Given the description of an element on the screen output the (x, y) to click on. 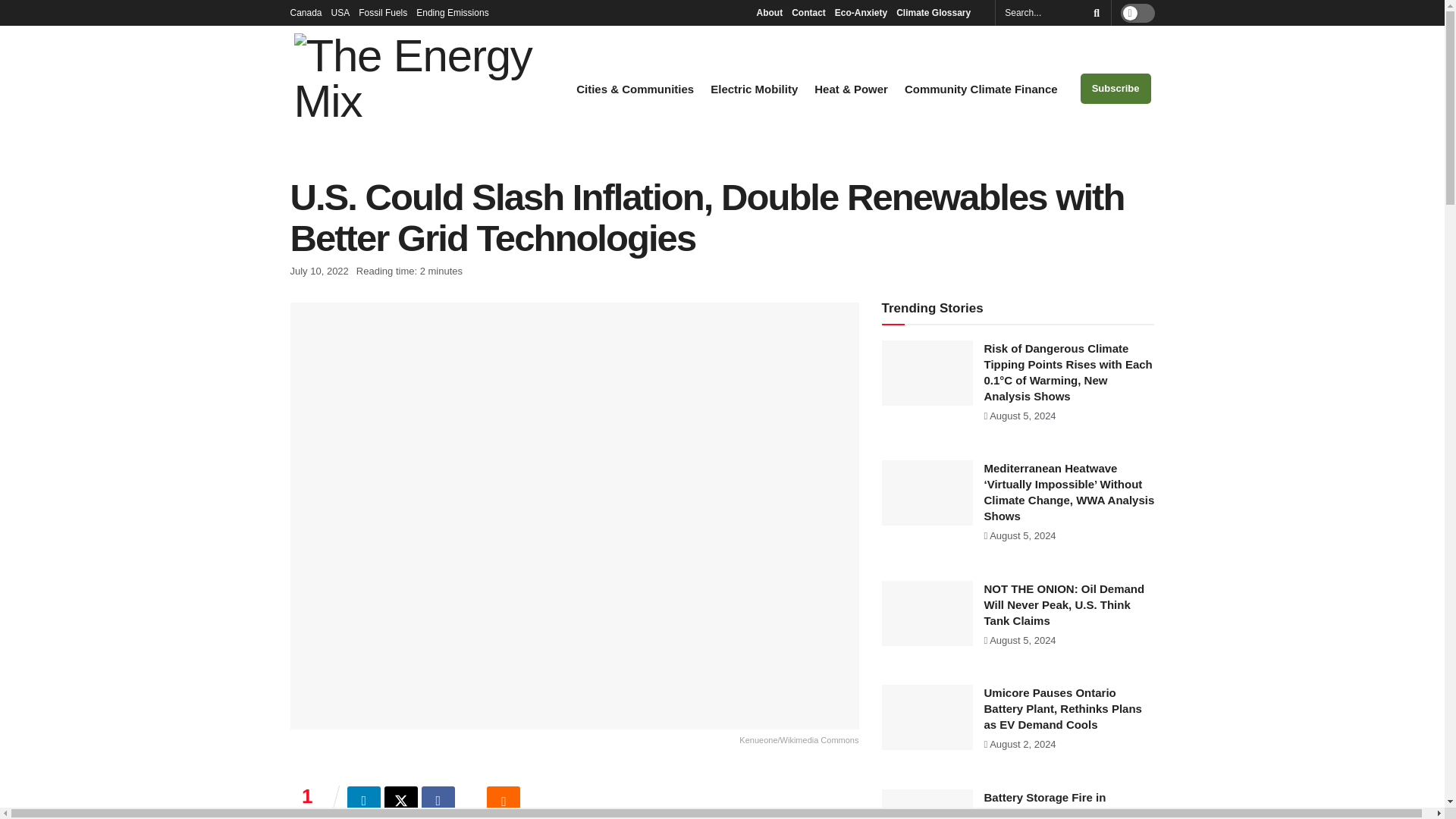
Electric Mobility (753, 89)
July 10, 2022 (318, 270)
Subscribe (1115, 88)
Community Climate Finance (981, 89)
Fossil Fuels (382, 12)
Eco-Anxiety (860, 12)
About (769, 12)
Canada (305, 12)
Climate Glossary (937, 12)
Ending Emissions (456, 12)
